Given the description of an element on the screen output the (x, y) to click on. 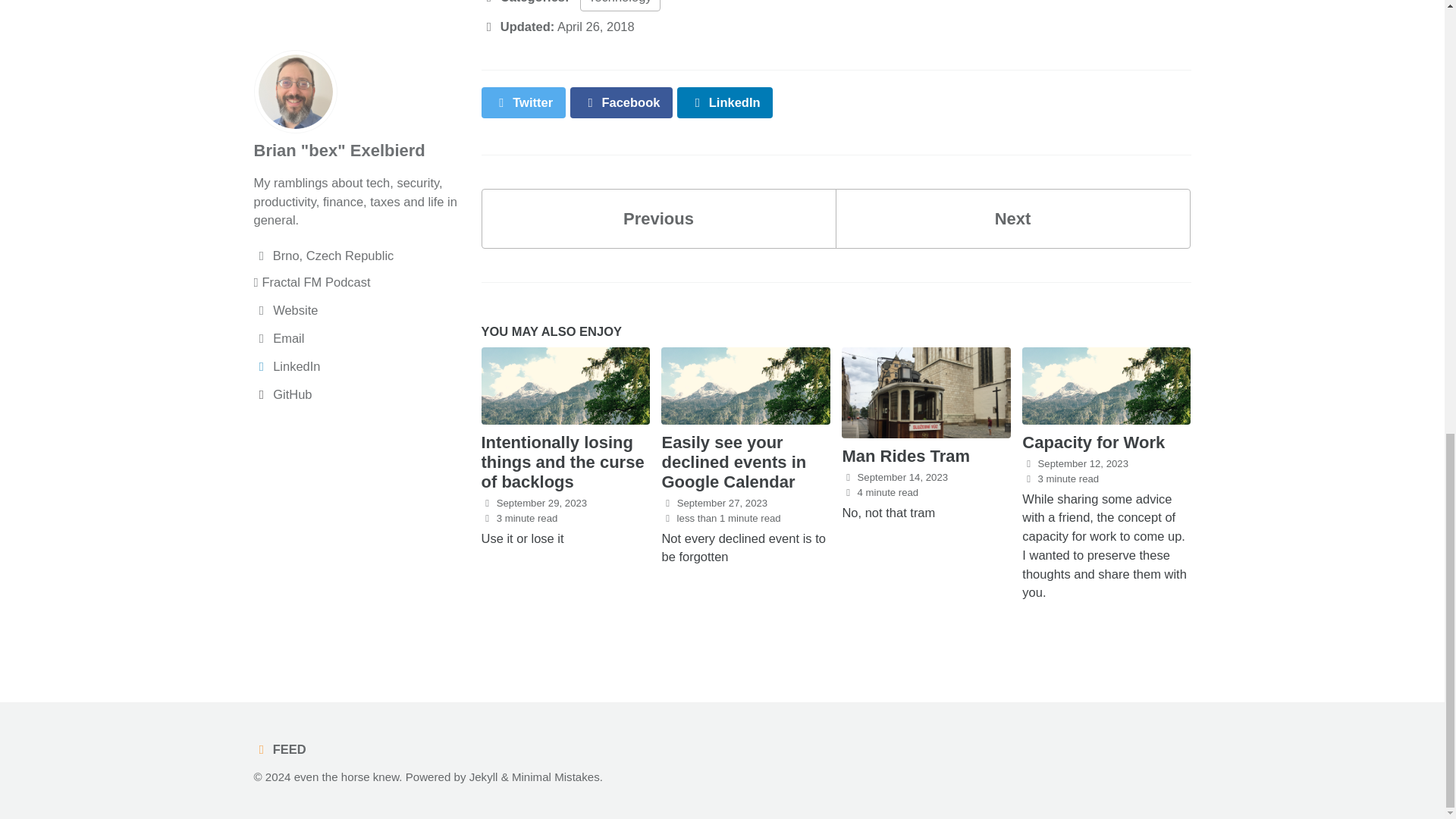
even the horse knew (346, 776)
Capacity for Work (1093, 442)
Jekyll (482, 776)
Twitter (522, 101)
Share on Twitter (522, 101)
Share on LinkedIn (725, 101)
Previous (657, 218)
Next (1013, 218)
LinkedIn (725, 101)
Intentionally losing things and the curse of backlogs (561, 462)
Easily see your declined events in Google Calendar (733, 462)
Minimal Mistakes (555, 776)
Man Rides Tram (905, 456)
Share on Facebook (621, 101)
FEED (283, 748)
